Given the description of an element on the screen output the (x, y) to click on. 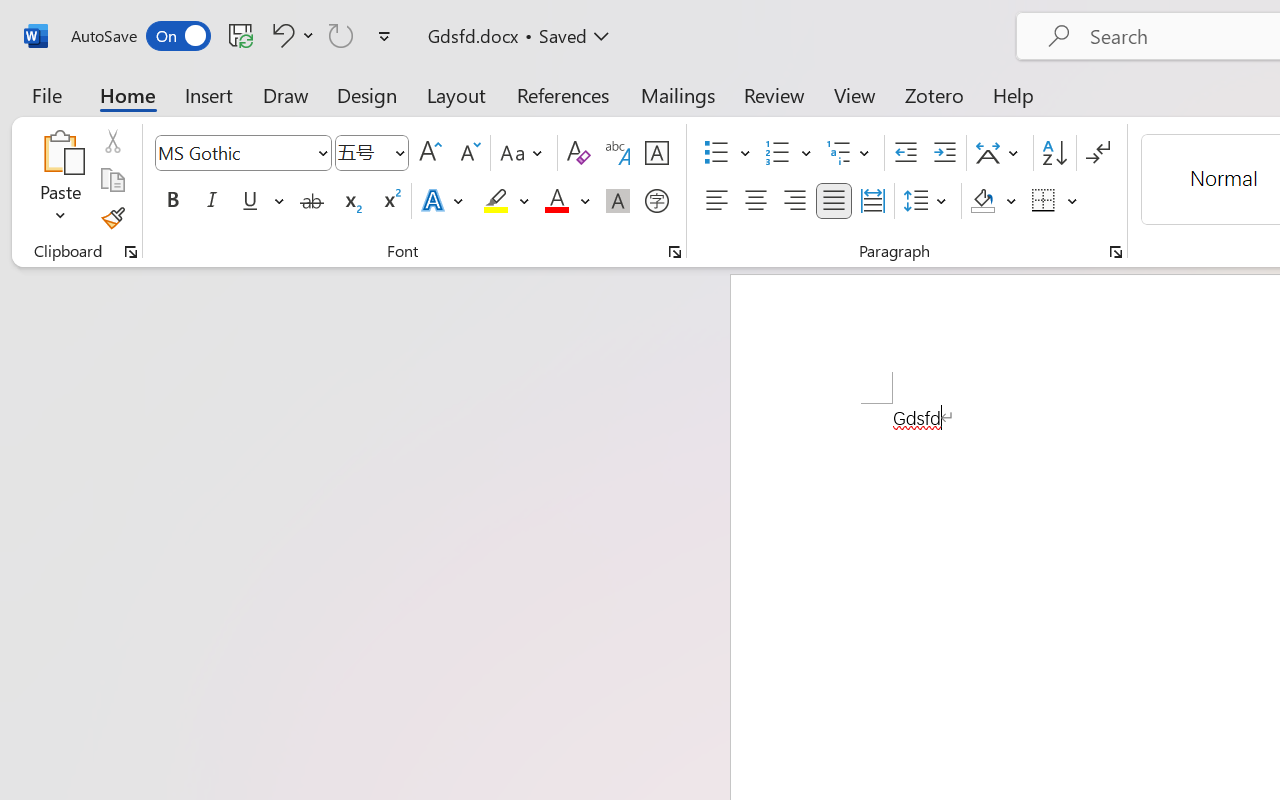
Distributed (872, 201)
Undo Font Formatting (280, 35)
Can't Repeat (341, 35)
